Given the description of an element on the screen output the (x, y) to click on. 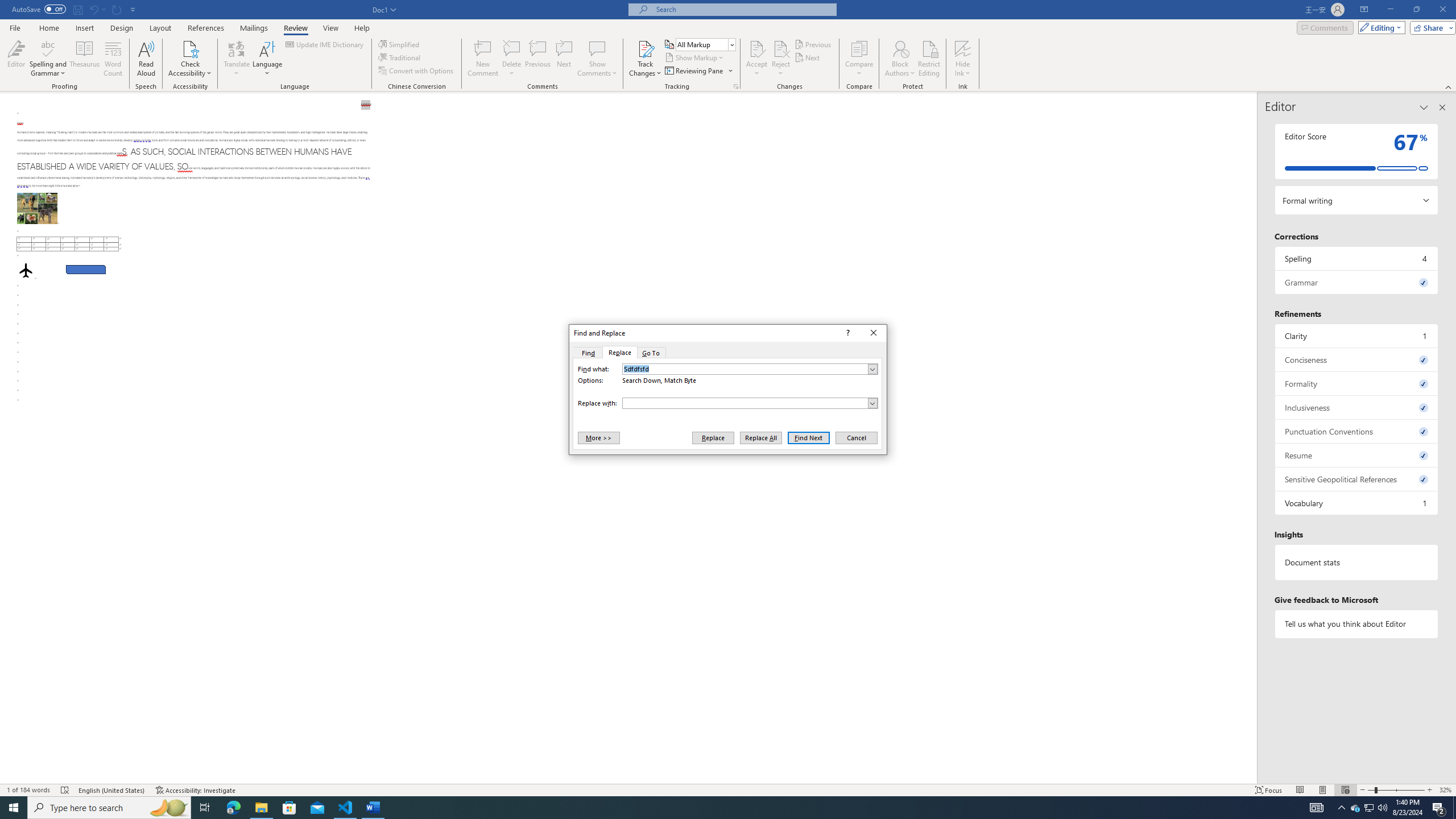
AutomationID: 4105 (1316, 807)
Next (808, 56)
Delete (511, 58)
Show desktop (1454, 807)
Start (13, 807)
Language (267, 58)
Task View (204, 807)
Check Accessibility (189, 48)
Previous (813, 44)
Word - 1 running window (373, 807)
Hide Ink (962, 58)
